Given the description of an element on the screen output the (x, y) to click on. 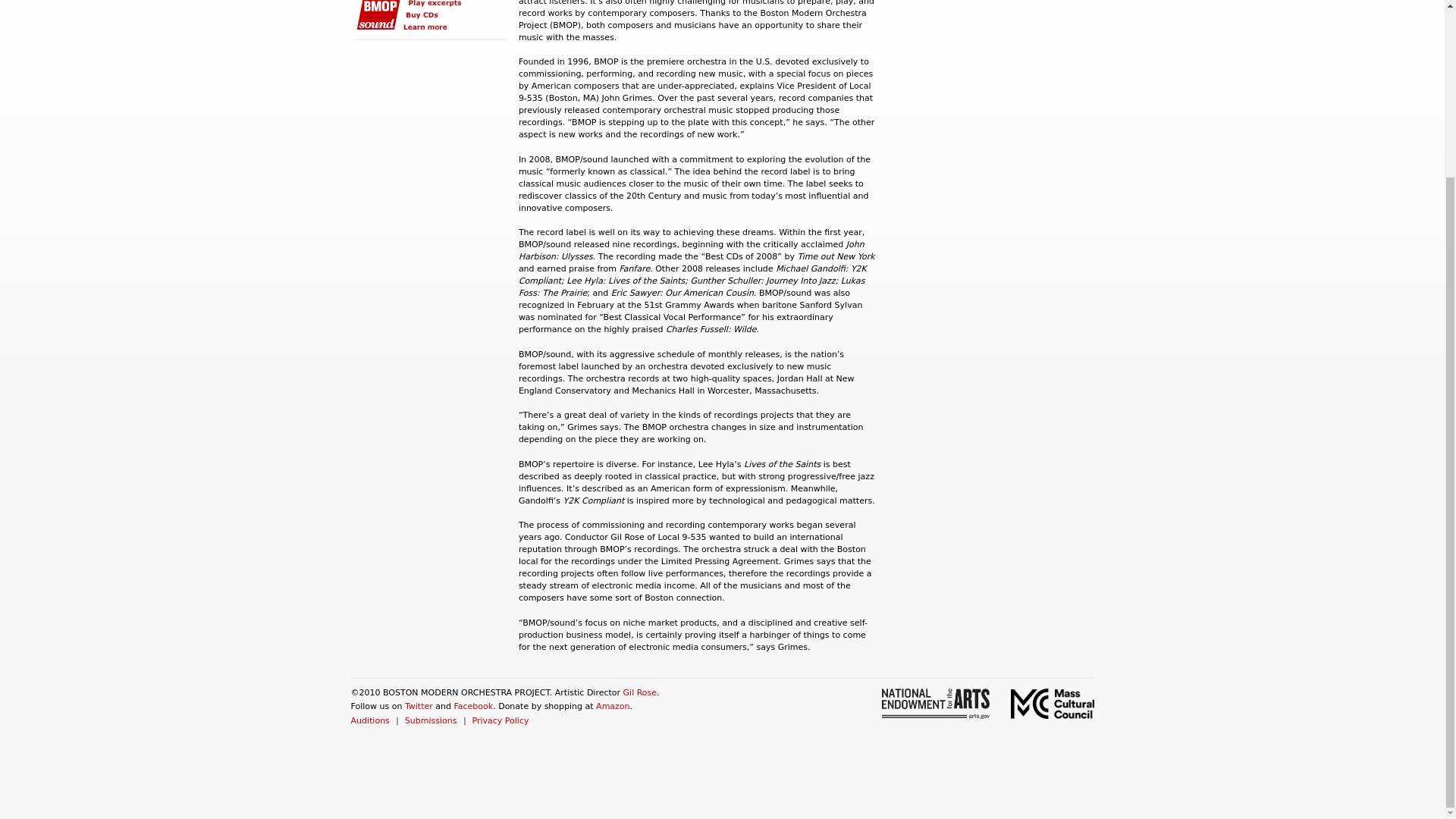
Auditions (369, 720)
Facebook (472, 706)
Submissions (430, 720)
Privacy Policy (500, 720)
Amazon (611, 706)
Gil Rose (640, 692)
Twitter (418, 706)
